Given the description of an element on the screen output the (x, y) to click on. 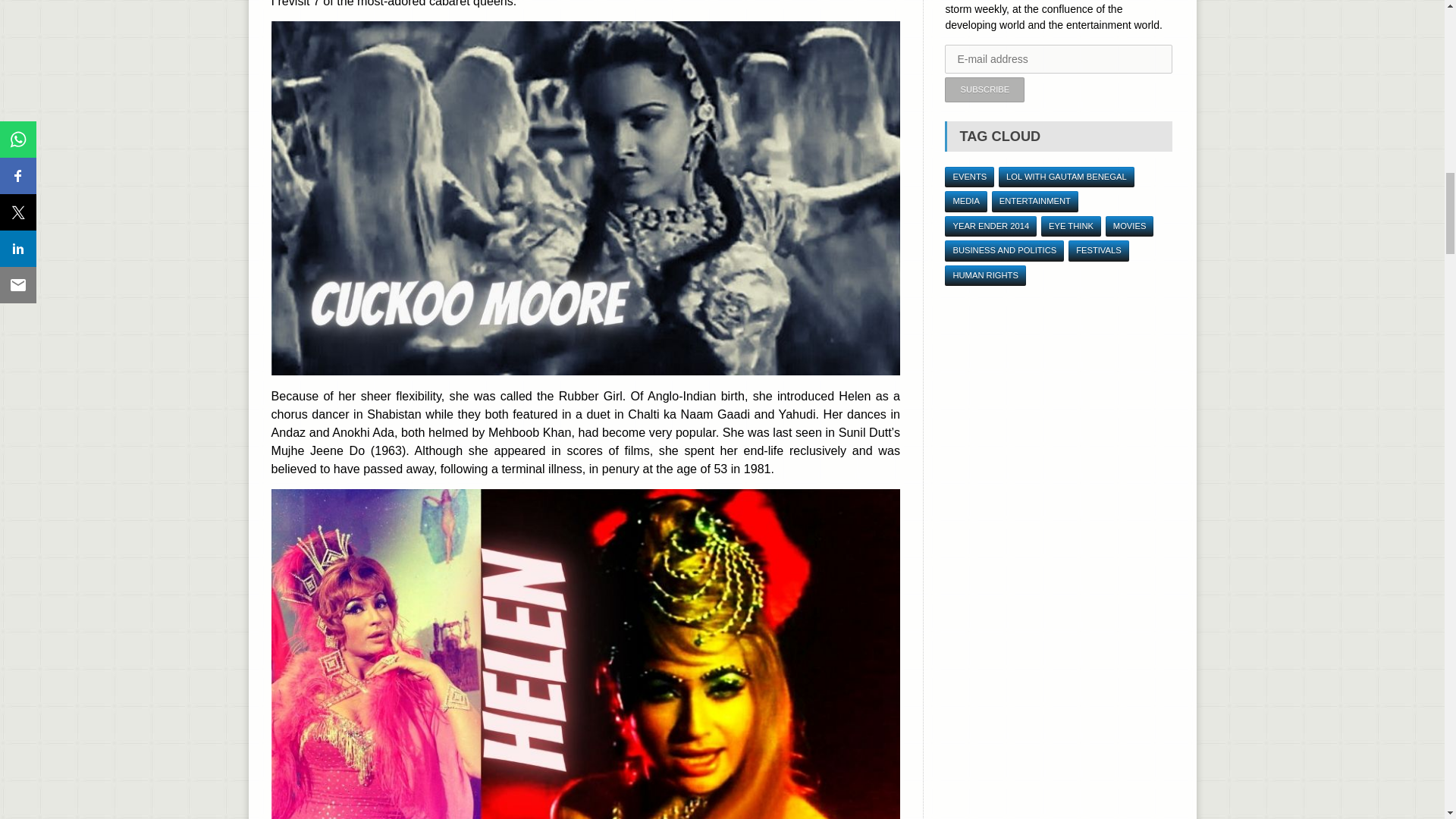
Subscribe (984, 89)
